Given the description of an element on the screen output the (x, y) to click on. 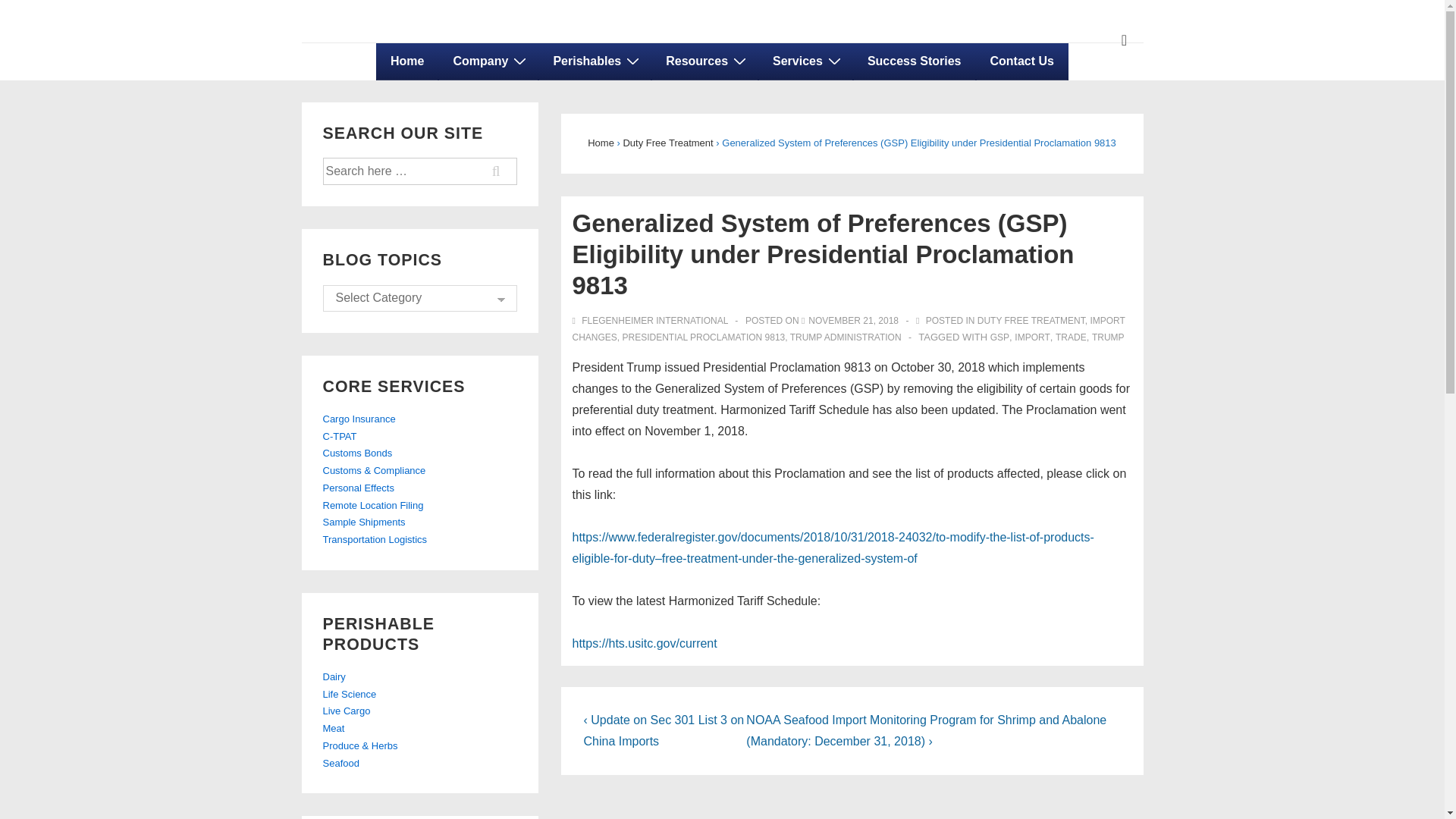
FLEGENHEIMER INTERNATIONAL (651, 320)
Resources (704, 61)
Success Stories (914, 61)
PRESIDENTIAL PROCLAMATION 9813 (704, 337)
Perishables (594, 61)
Services (804, 61)
TRUMP ADMINISTRATION (845, 337)
Contact Us (1021, 61)
Company (488, 61)
DUTY FREE TREATMENT (1030, 320)
